Given the description of an element on the screen output the (x, y) to click on. 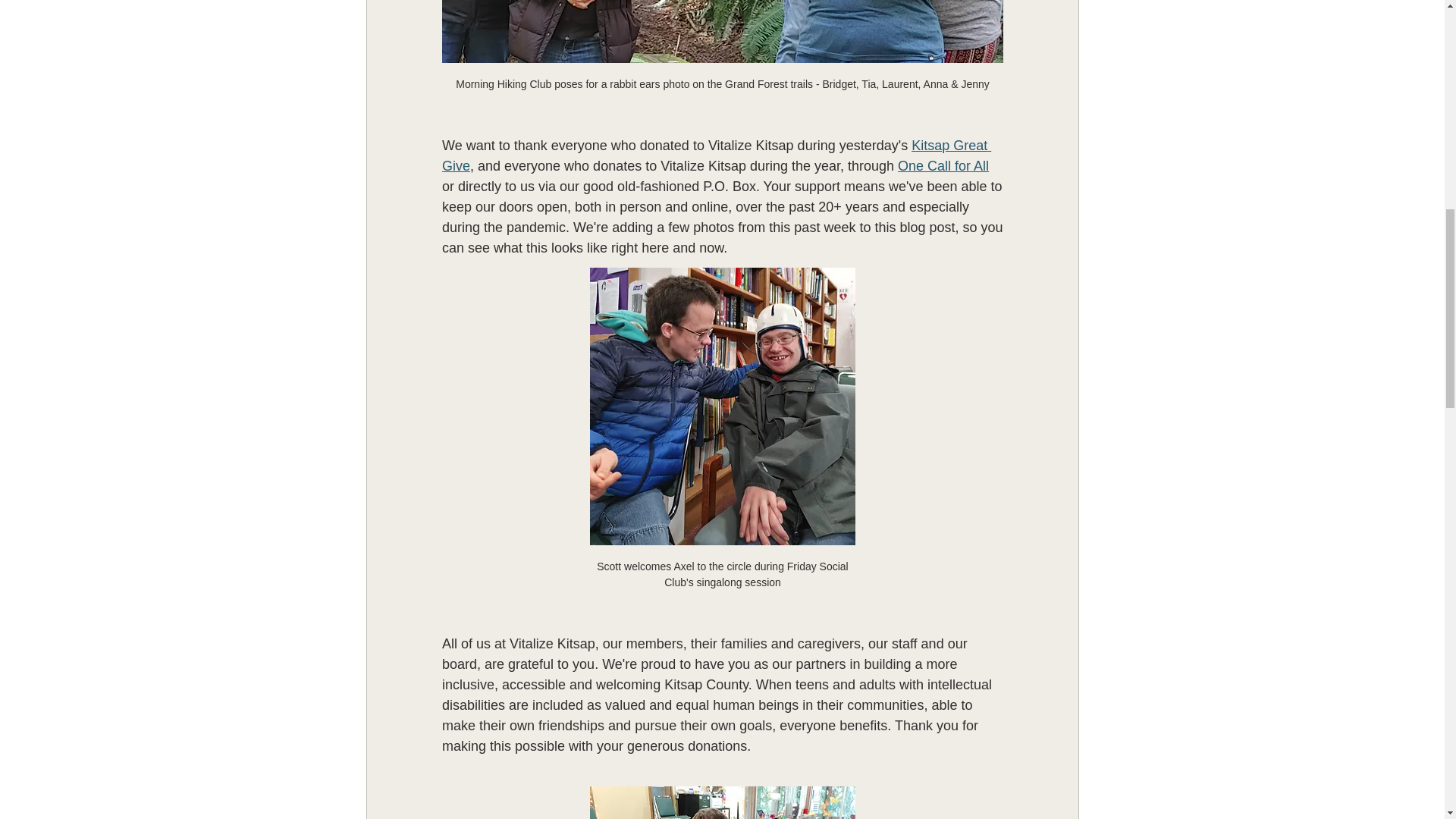
One Call for All (943, 165)
Kitsap Great Give (715, 155)
